Given the description of an element on the screen output the (x, y) to click on. 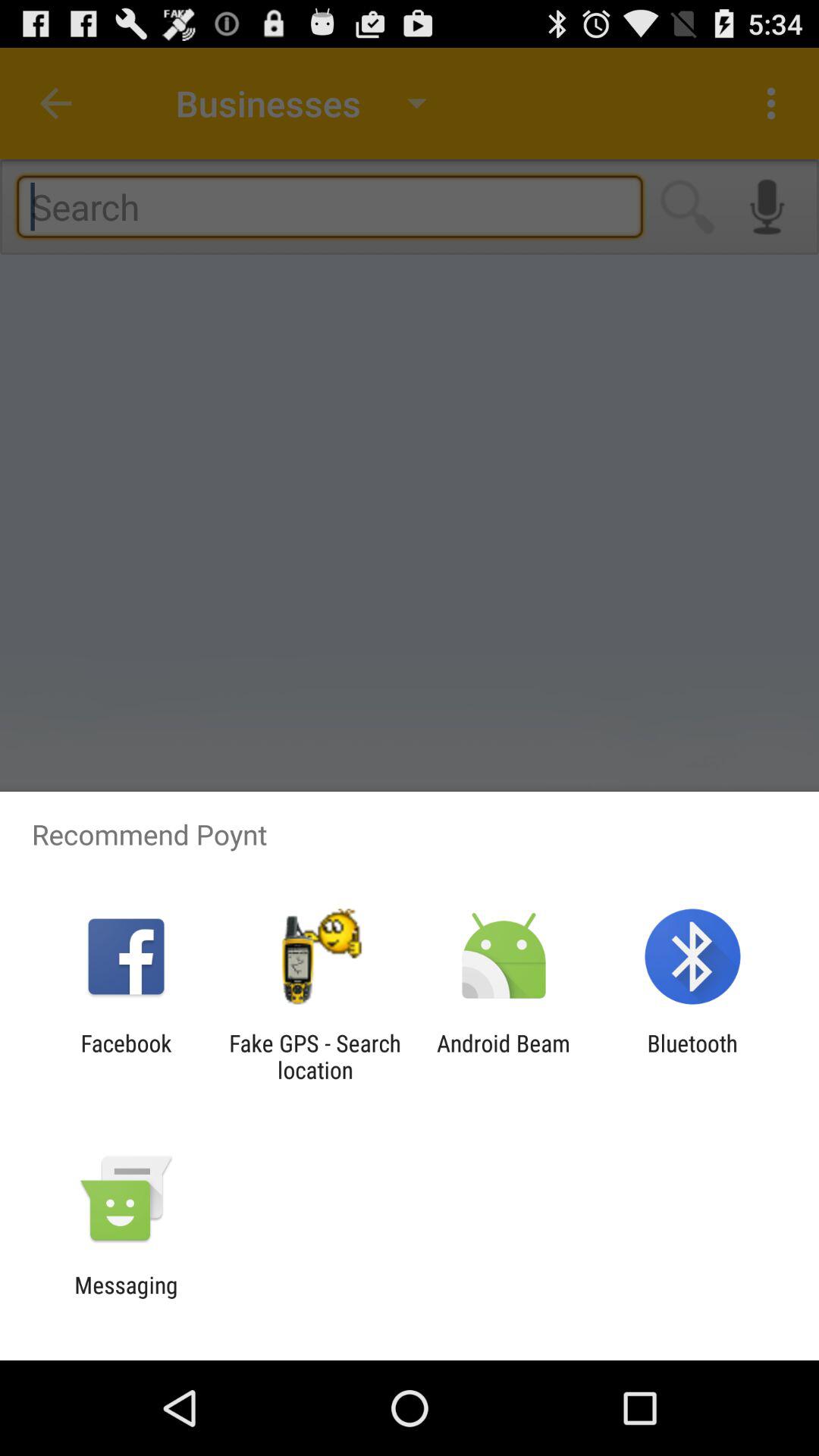
launch messaging (126, 1298)
